Given the description of an element on the screen output the (x, y) to click on. 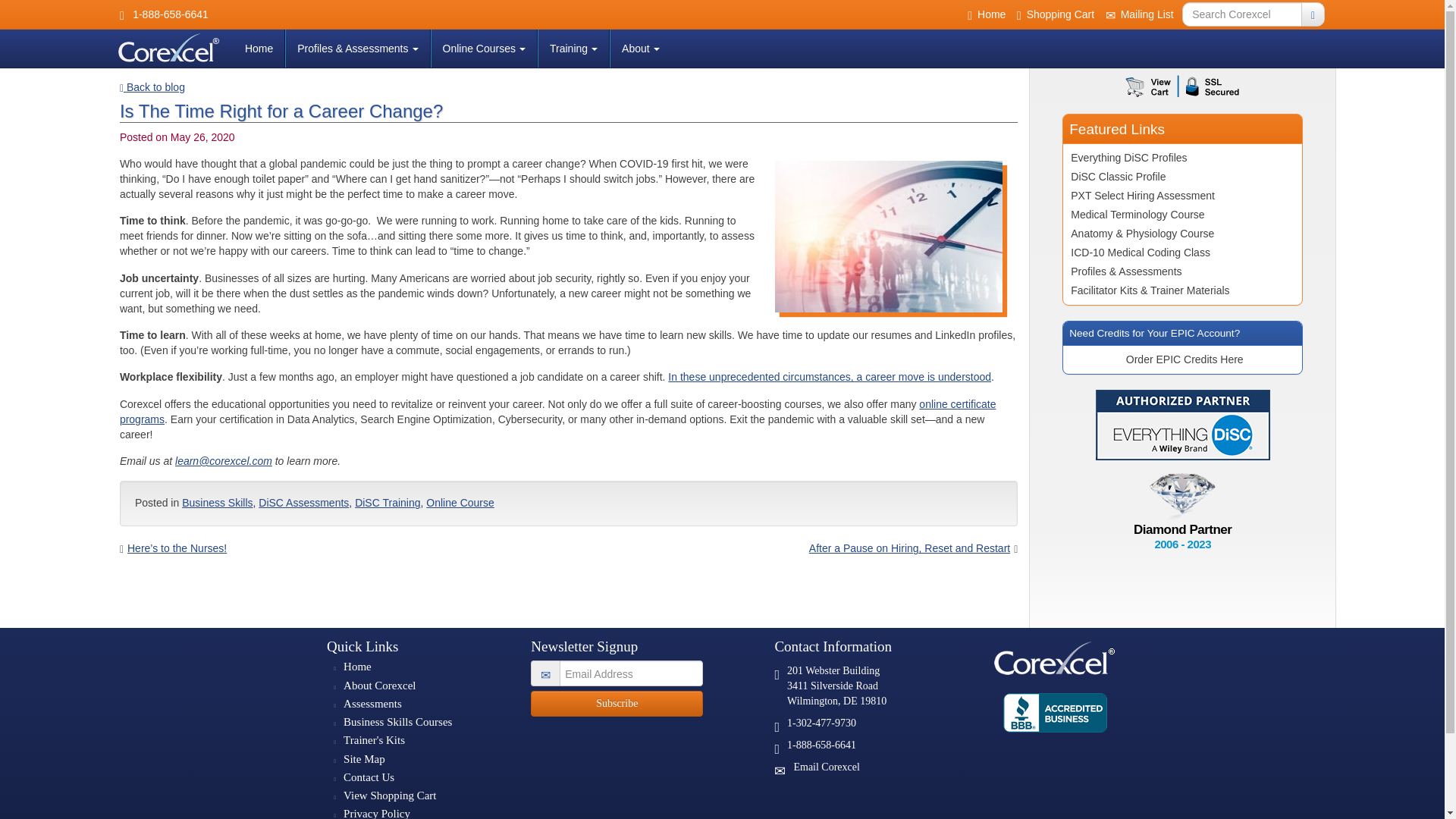
Call or text (776, 726)
View Shopping Cart (389, 795)
Online Courses (483, 48)
Home (257, 48)
Call toll free (776, 748)
1-888-658-6641 (163, 15)
